Given the description of an element on the screen output the (x, y) to click on. 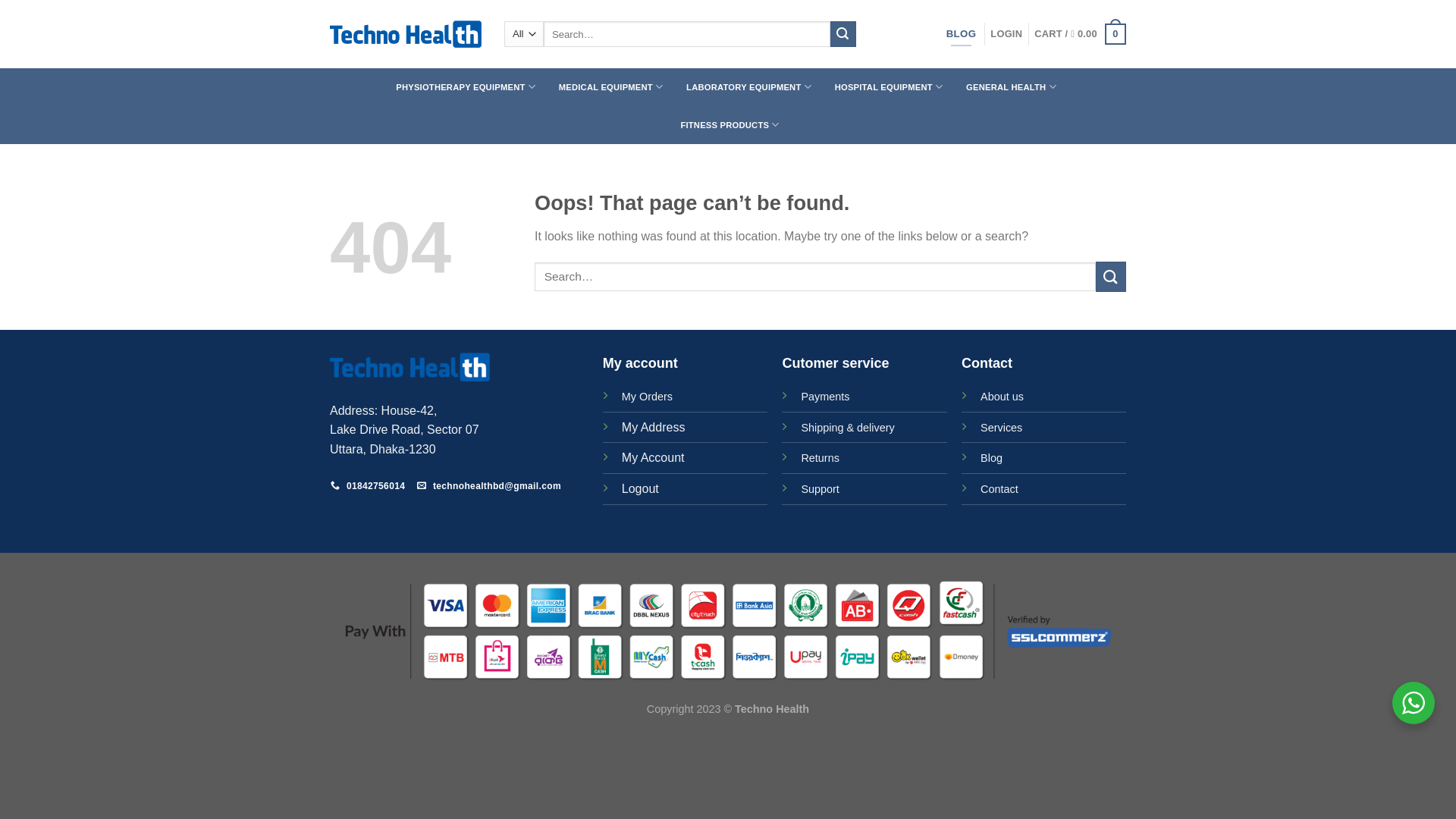
BLOG Element type: text (961, 34)
technohealthbd@gmail.com Element type: text (489, 486)
MEDICAL EQUIPMENT Element type: text (610, 87)
Search Element type: text (843, 34)
PHYSIOTHERAPY EQUIPMENT Element type: text (465, 87)
Shipping & delivery Element type: text (847, 426)
Support Element type: text (819, 488)
HOSPITAL EQUIPMENT Element type: text (888, 87)
LOGIN Element type: text (1006, 33)
LABORATORY EQUIPMENT Element type: text (748, 87)
Blog Element type: text (991, 457)
01842756014 Element type: text (368, 486)
Payments Element type: text (824, 396)
My Address Element type: text (653, 426)
My Account Element type: text (652, 457)
Returns Element type: text (819, 457)
Logout Element type: text (639, 488)
GENERAL HEALTH Element type: text (1010, 87)
Contact Element type: text (999, 488)
My Orders Element type: text (646, 395)
FITNESS PRODUCTS Element type: text (729, 125)
About us Element type: text (1001, 395)
